Given the description of an element on the screen output the (x, y) to click on. 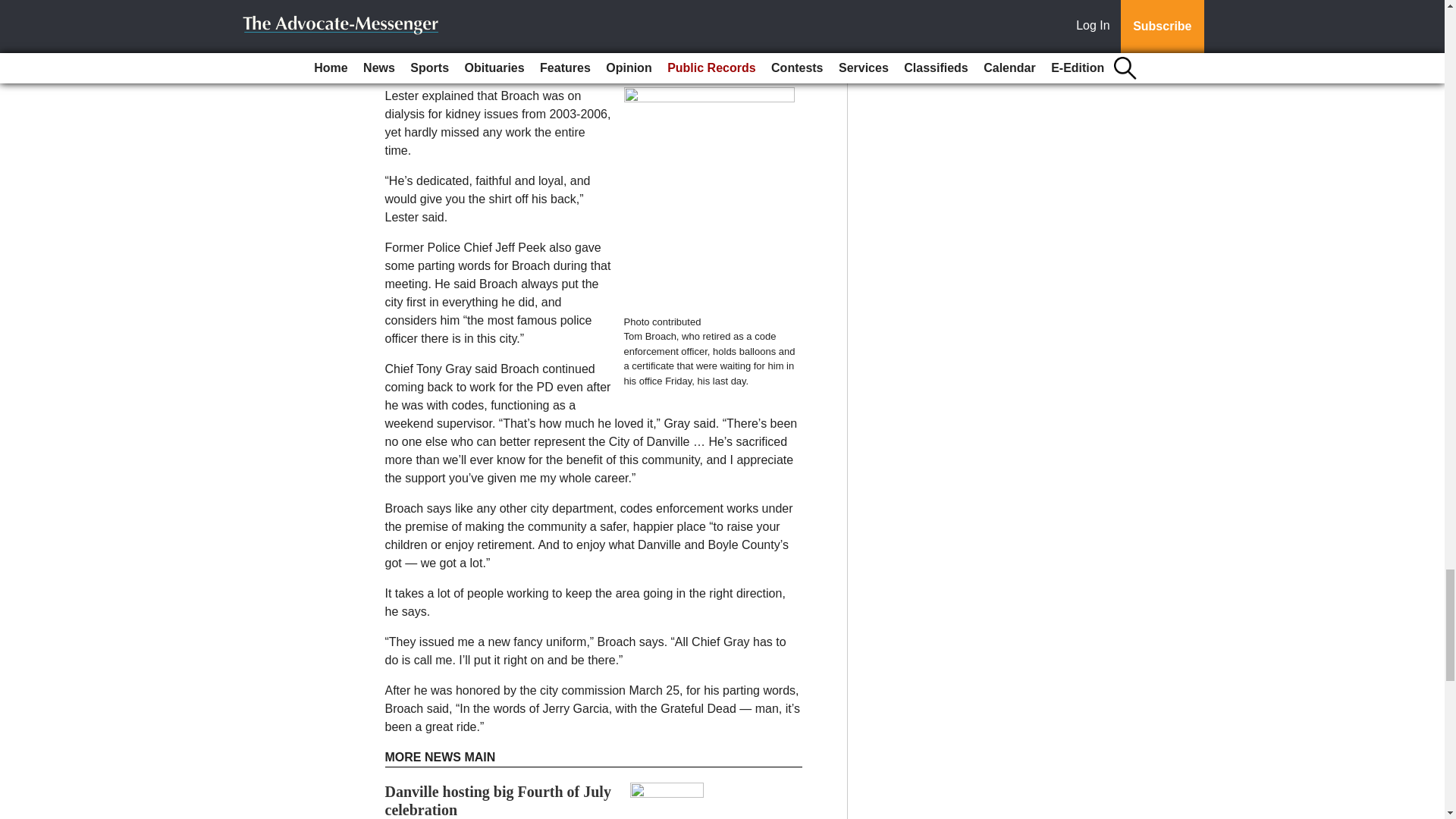
Danville hosting big Fourth of July celebration (498, 800)
Danville hosting big Fourth of July celebration (498, 800)
